Given the description of an element on the screen output the (x, y) to click on. 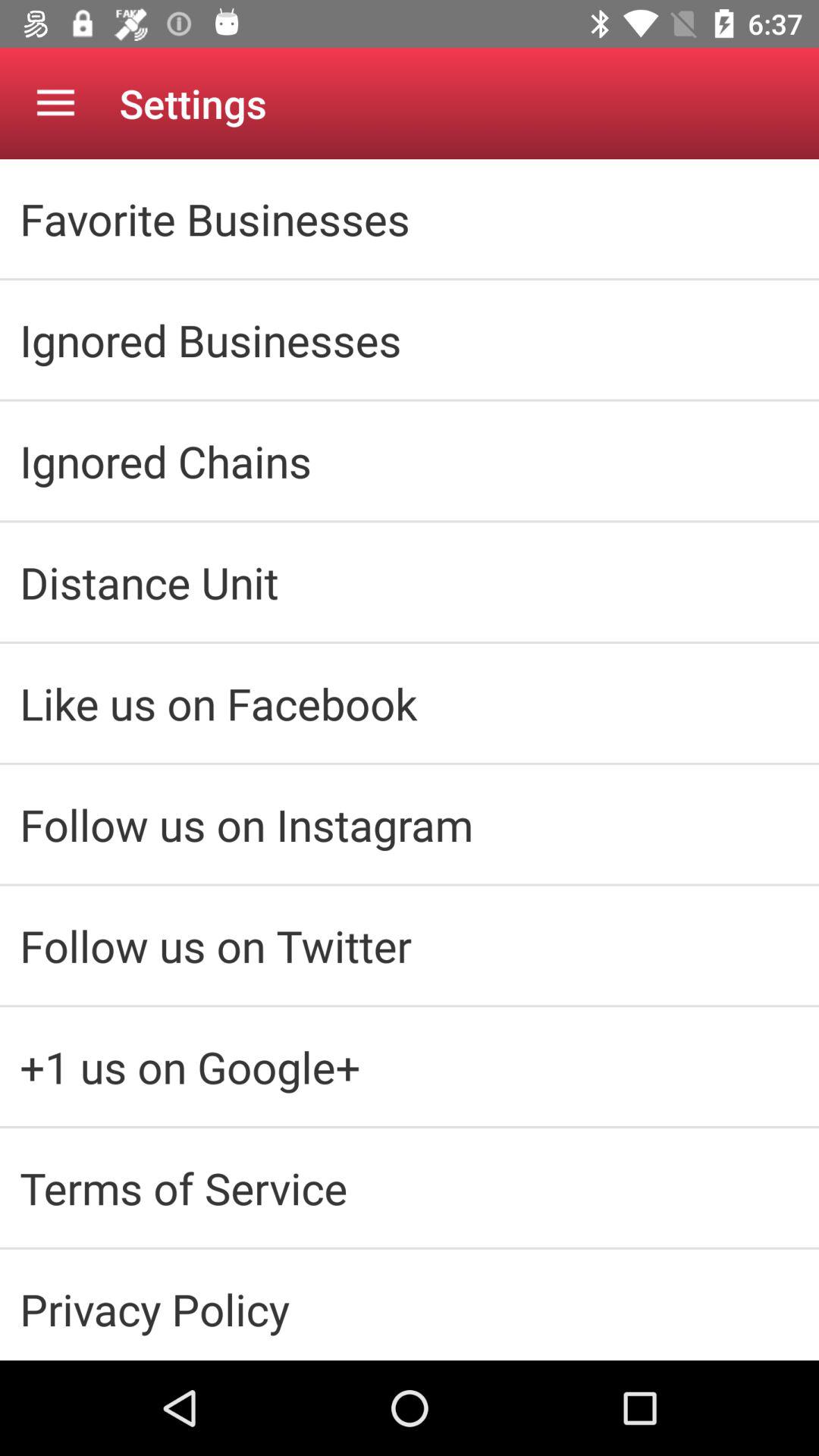
press the icon above privacy policy item (409, 1187)
